Given the description of an element on the screen output the (x, y) to click on. 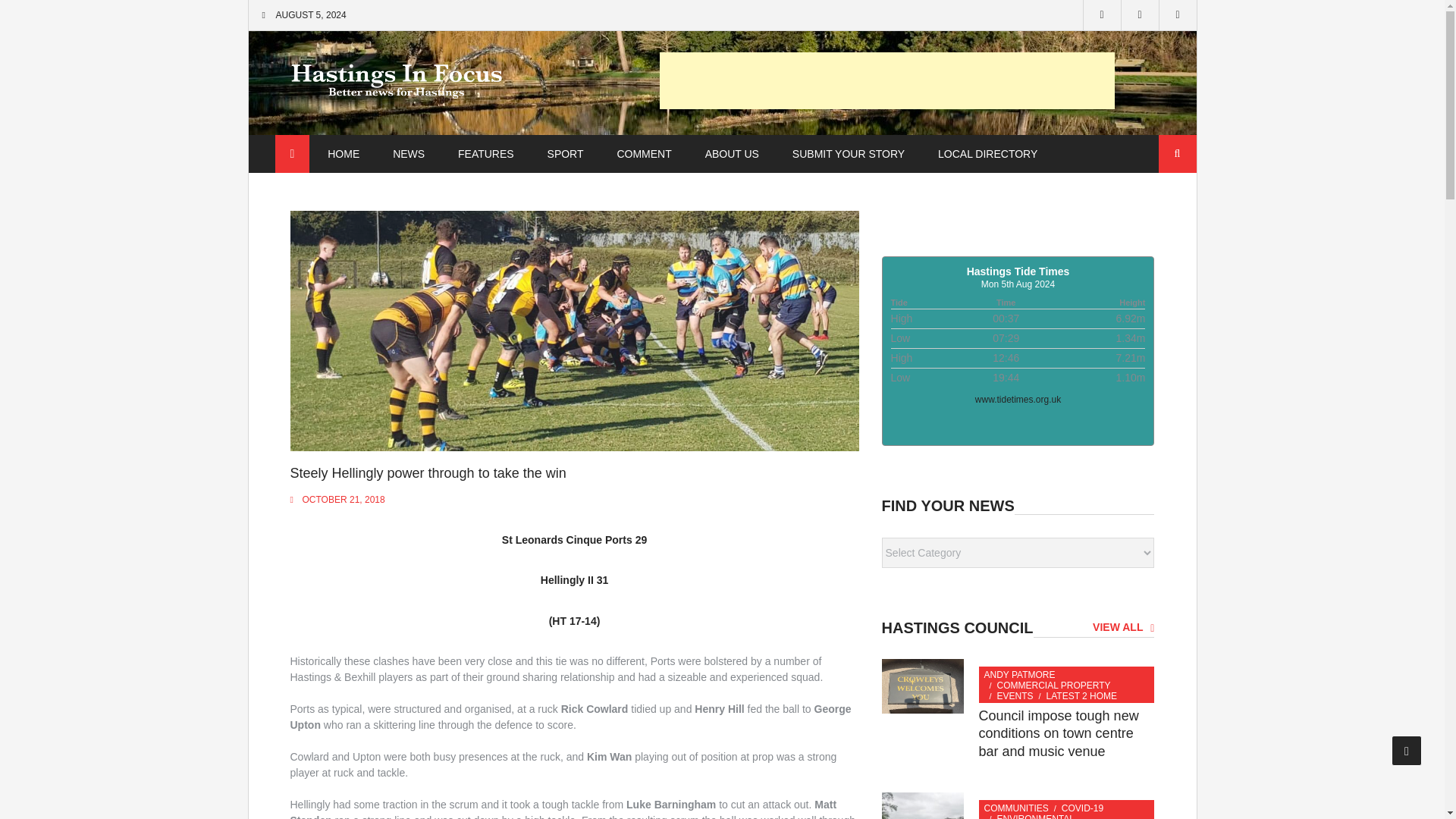
COMMUNITIES (1016, 808)
COMMERCIAL PROPERTY (1053, 685)
LOCAL DIRECTORY (987, 153)
HOME (343, 153)
TWITTER (1139, 15)
SUBMIT YOUR STORY (848, 153)
ABOUT US (732, 153)
FEATURES (485, 153)
Go to Top (1406, 750)
FACEBOOK (1102, 15)
Search (1177, 153)
LATEST 2 HOME (1082, 696)
Search (1177, 153)
ANDY PATMORE (1019, 674)
